Given the description of an element on the screen output the (x, y) to click on. 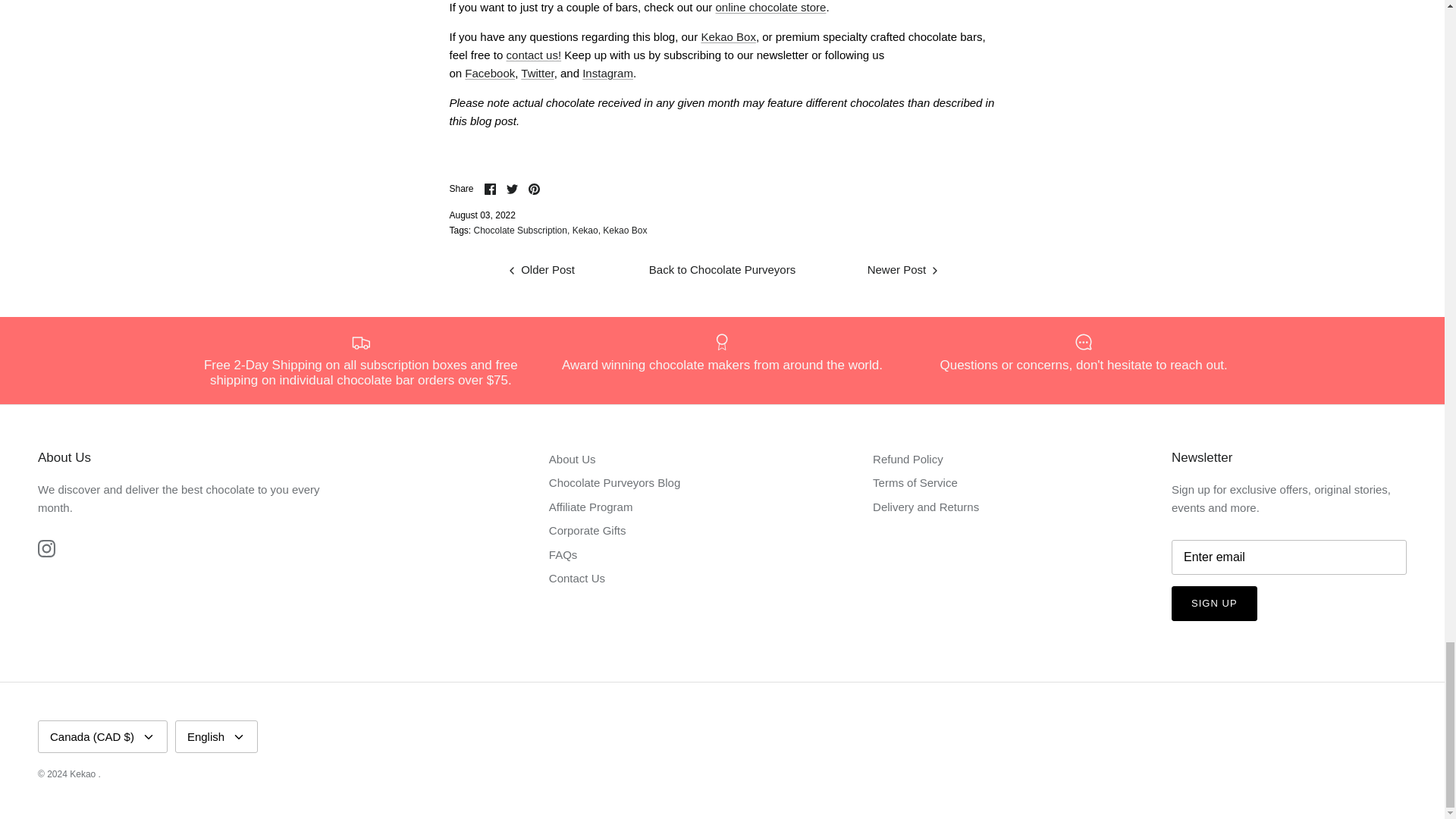
Show articles tagged Chocolate Subscription (522, 230)
Down (238, 736)
Show articles tagged Kekao (585, 230)
Left (511, 270)
Facebook (490, 188)
Twitter (512, 188)
Right (934, 270)
Down (148, 736)
Instagram (46, 548)
Pinterest (534, 188)
